Given the description of an element on the screen output the (x, y) to click on. 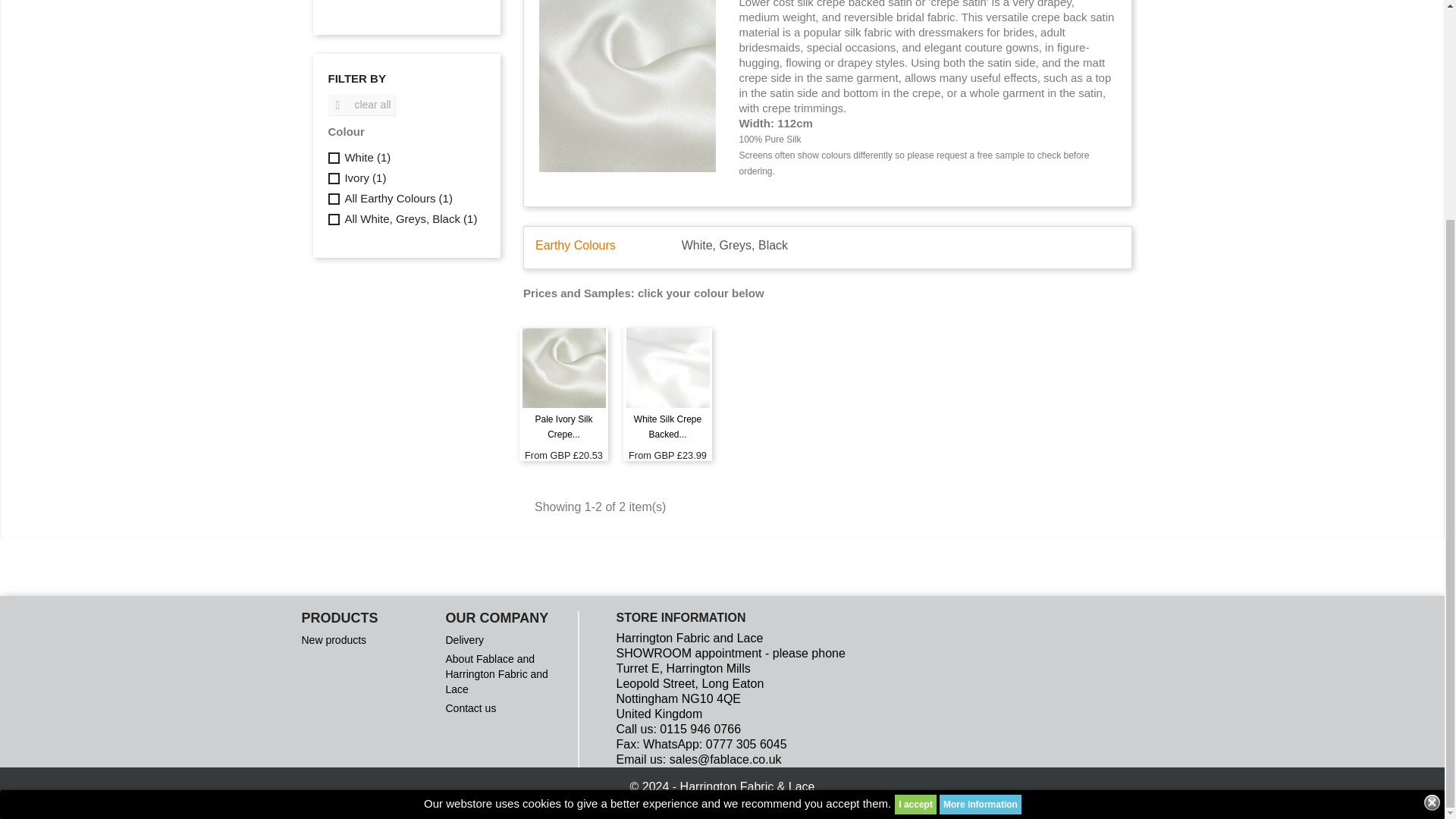
More information (980, 513)
Pale Ivory Silk Crepe... (563, 426)
White Silk Crepe Backed... (667, 426)
Use our form to contact us (470, 707)
New products (333, 639)
SILK CREPE BACKED SATIN 4206 (405, 1)
About Fablace and Harrington Fabric and Lace (496, 673)
Our new products (333, 639)
White, Greys, Black (734, 245)
